Given the description of an element on the screen output the (x, y) to click on. 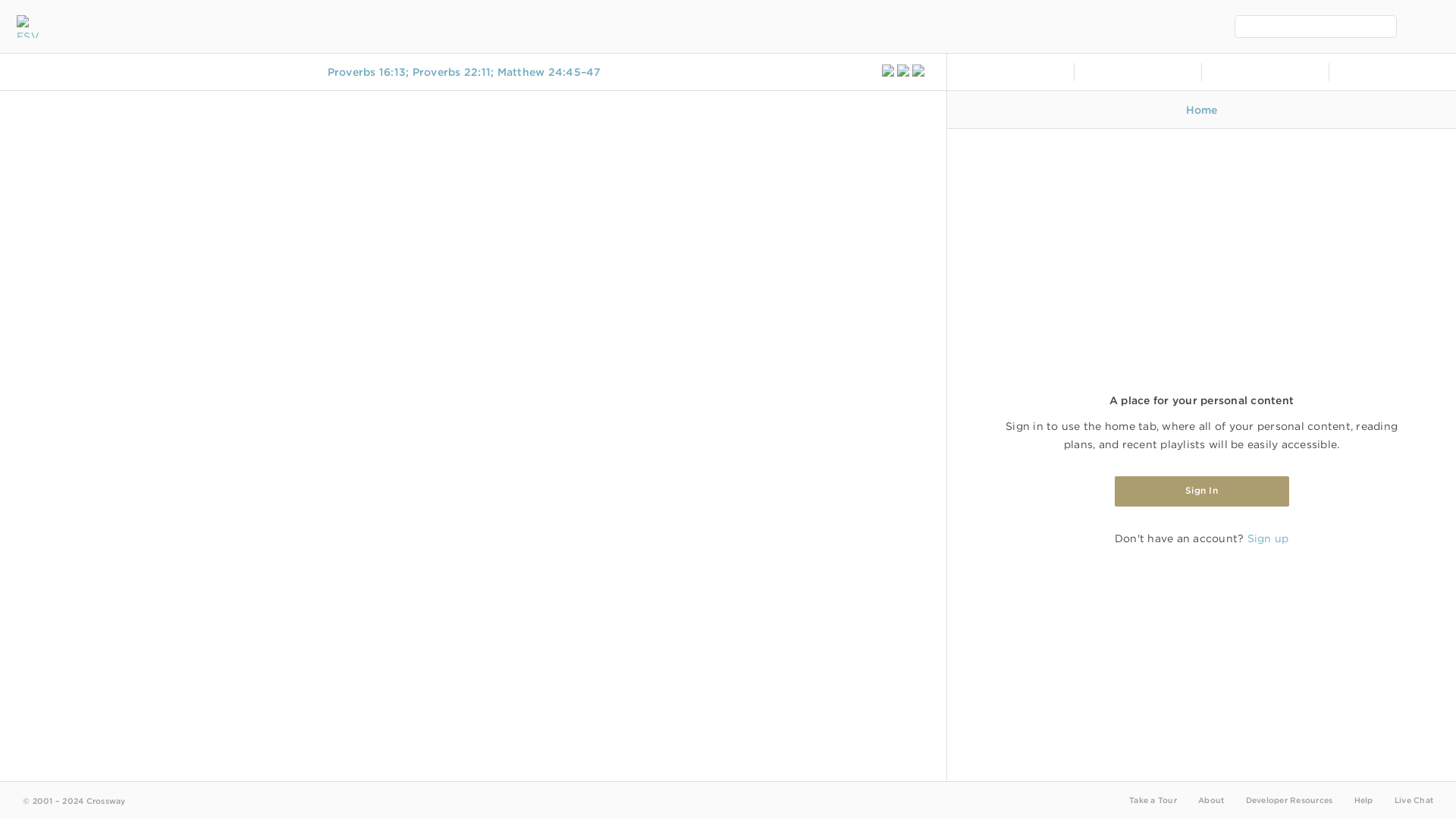
Take a Tour (1152, 800)
Sign up (1267, 538)
Sign In (1201, 490)
Help (1363, 800)
Live Chat (1413, 800)
Developer Resources (1288, 800)
About (1211, 800)
